Given the description of an element on the screen output the (x, y) to click on. 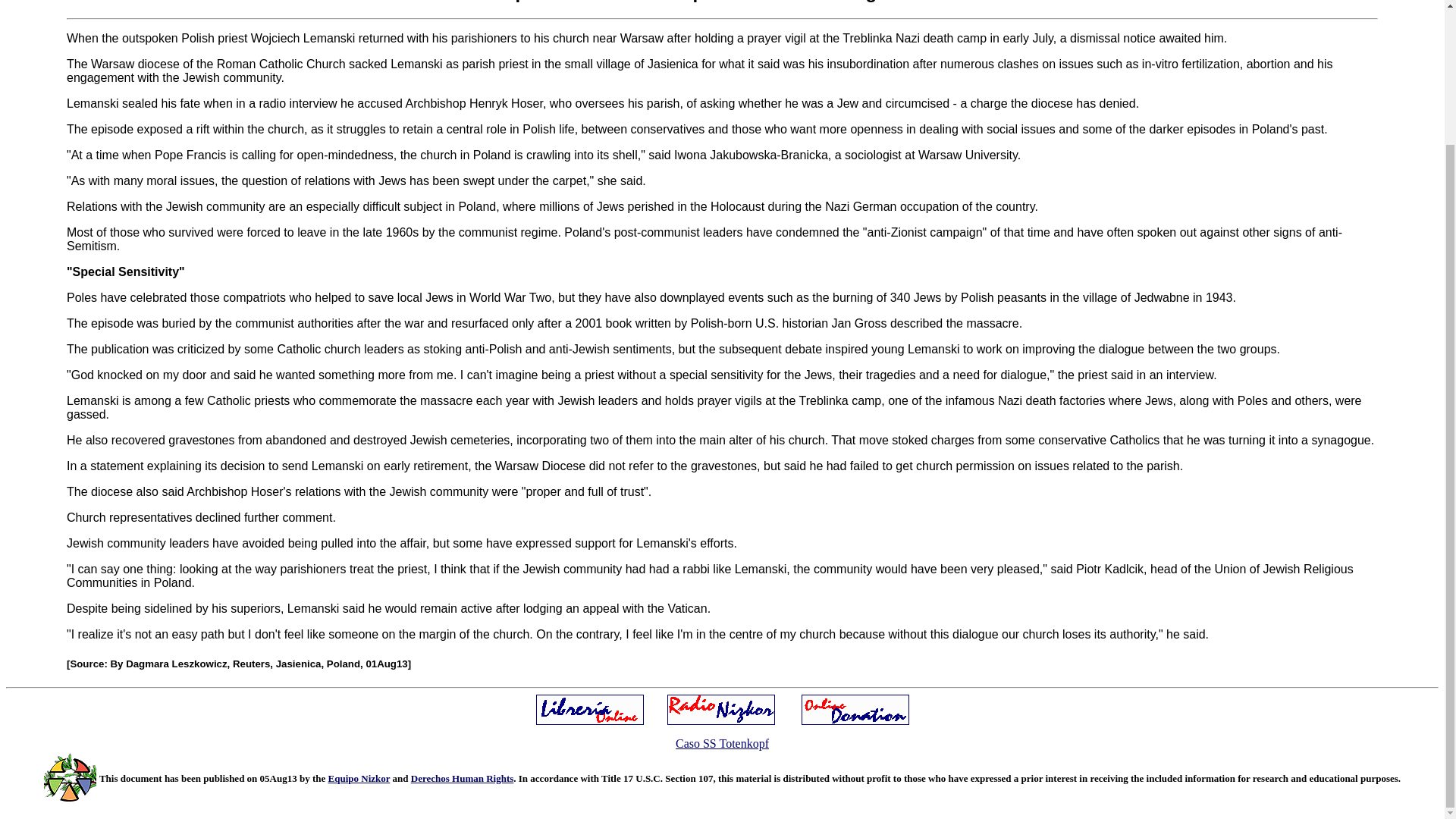
Equipo Nizkor (359, 778)
Derechos Human Rights (461, 778)
Caso SS Totenkopf (721, 743)
